Given the description of an element on the screen output the (x, y) to click on. 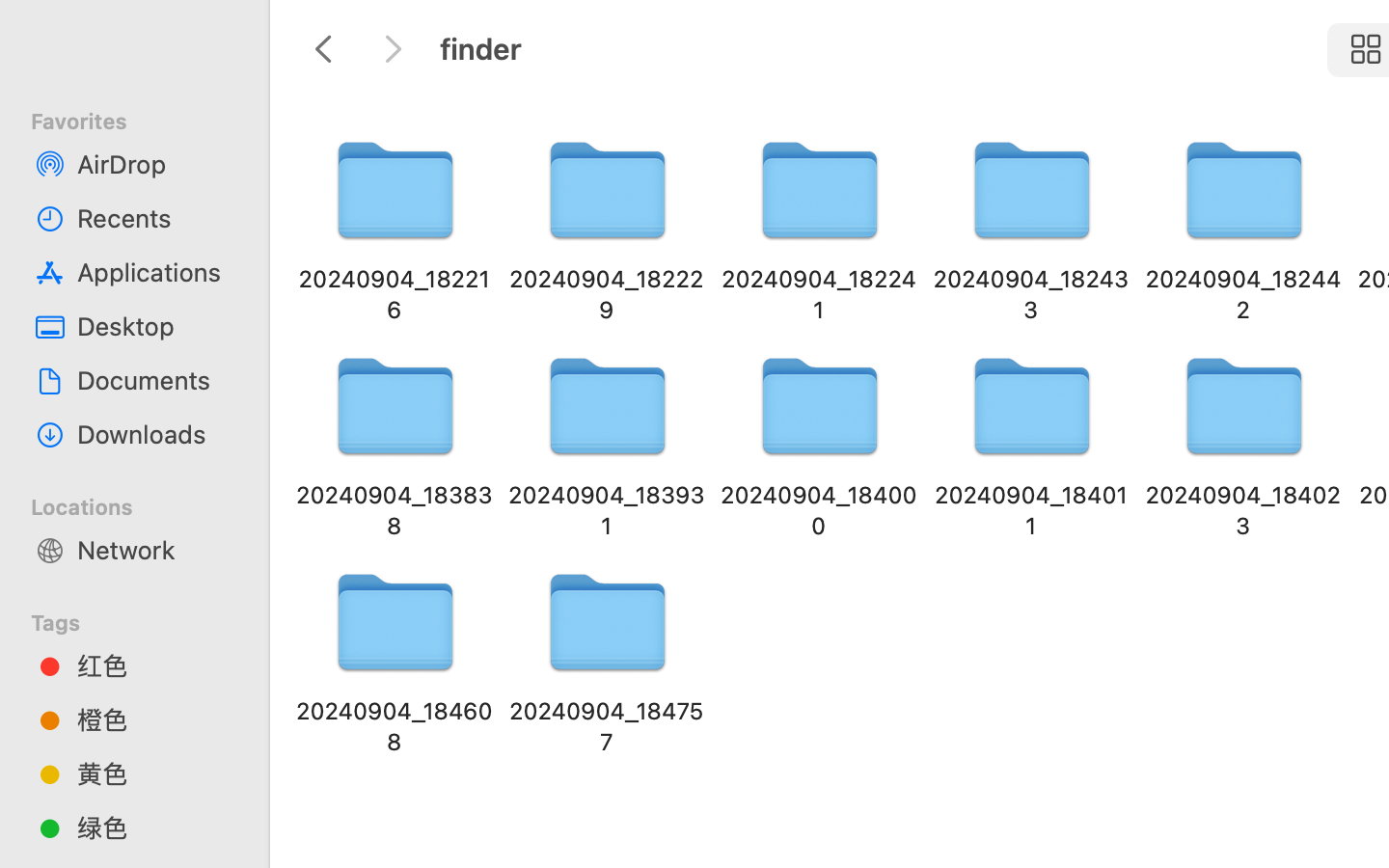
绿色 Element type: AXStaticText (155, 827)
Tags Element type: AXStaticText (145, 619)
Documents Element type: AXStaticText (155, 379)
红色 Element type: AXStaticText (155, 665)
Locations Element type: AXStaticText (145, 504)
